Given the description of an element on the screen output the (x, y) to click on. 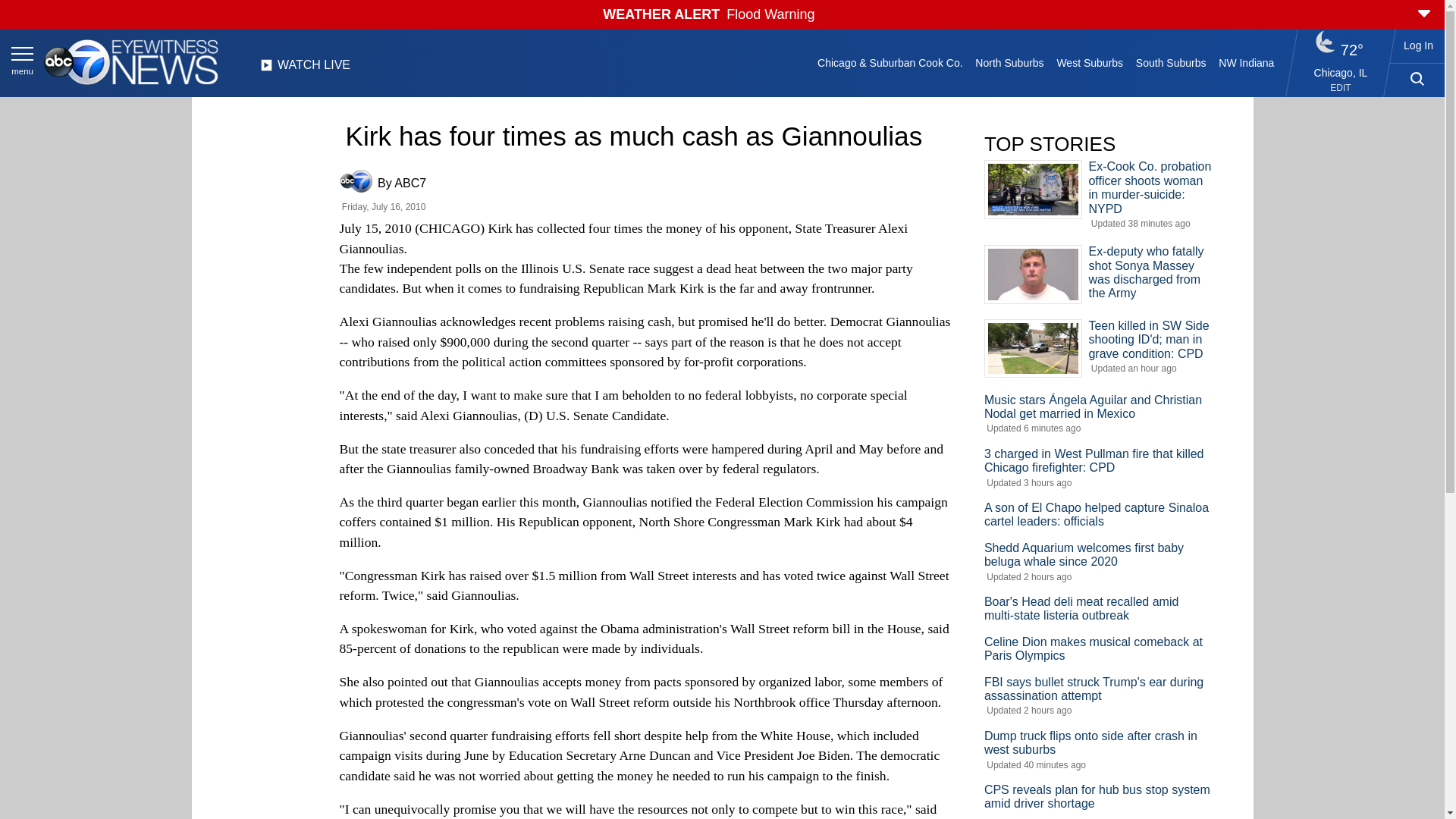
Chicago, IL (1340, 72)
West Suburbs (1089, 62)
NW Indiana (1246, 62)
South Suburbs (1170, 62)
WATCH LIVE (305, 69)
EDIT (1340, 87)
North Suburbs (1009, 62)
